Given the description of an element on the screen output the (x, y) to click on. 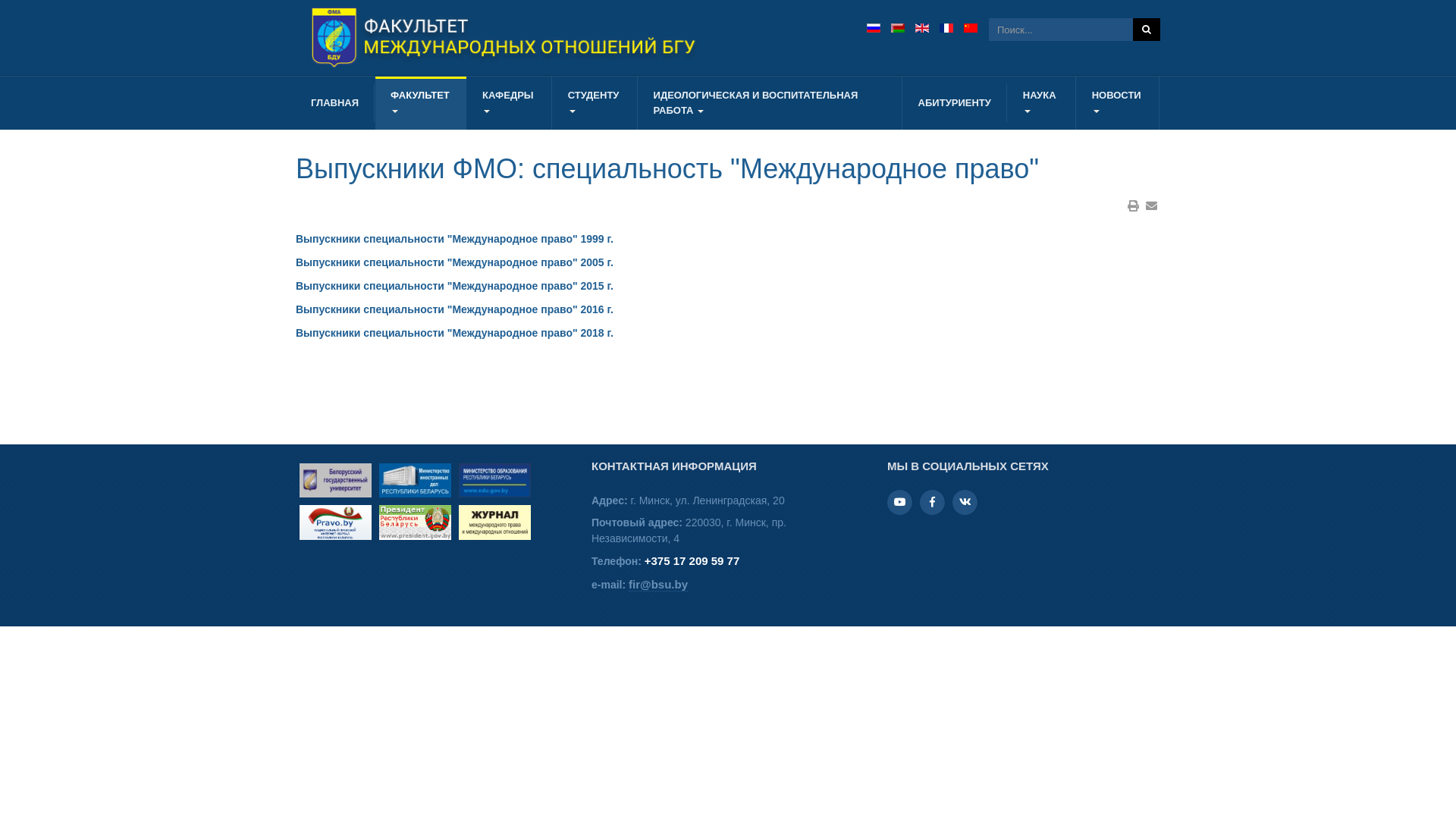
Russian (Russia) Element type: hover (873, 27)
Pravo.by Element type: hover (335, 522)
English (UK) Element type: hover (921, 27)
French Element type: hover (946, 27)
E-mail Element type: text (1150, 205)
Belarusian (be-BY) Element type: hover (897, 27)
fir@bsu.by Element type: text (657, 584)
